Given the description of an element on the screen output the (x, y) to click on. 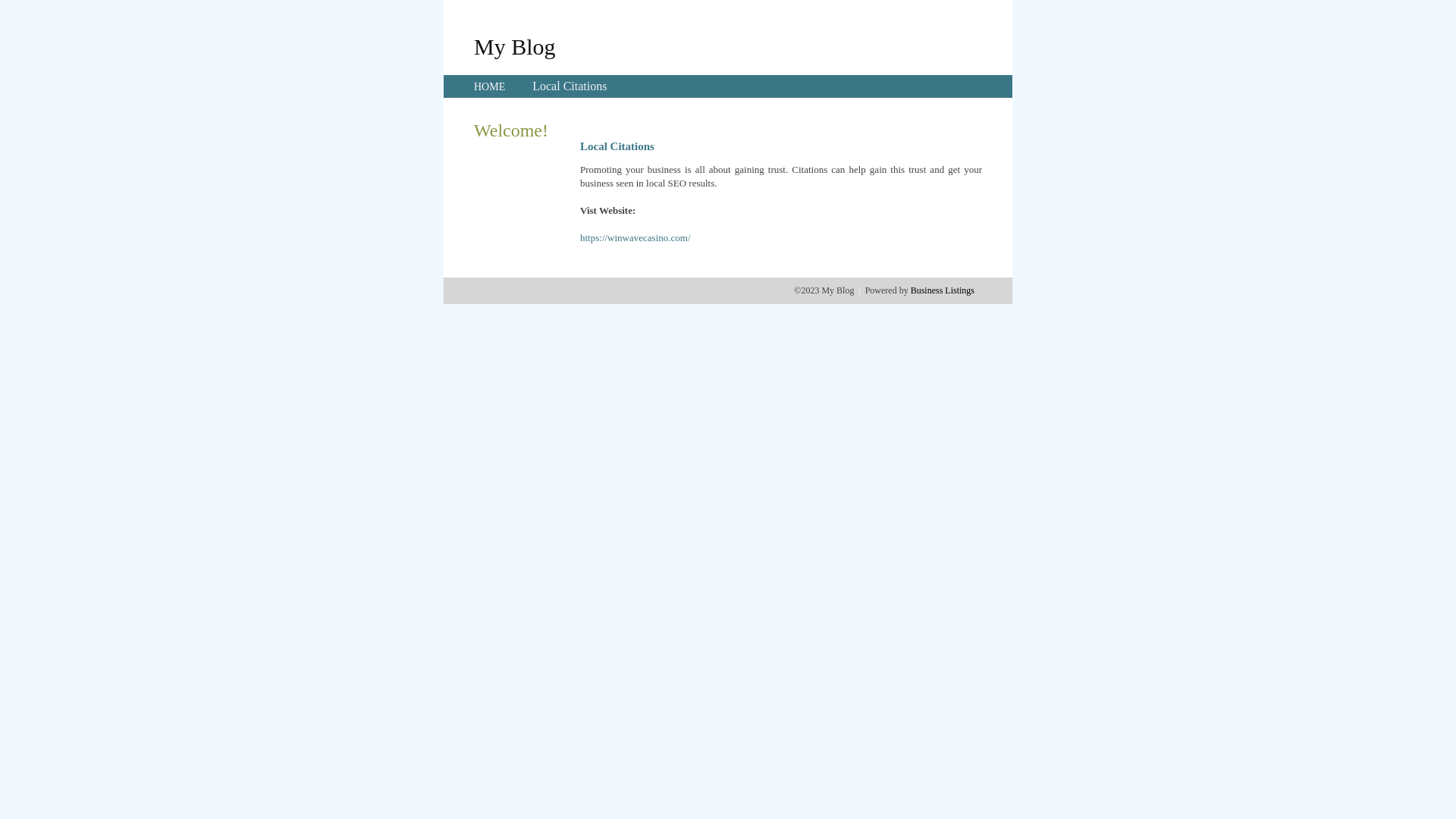
My Blog Element type: text (514, 46)
Local Citations Element type: text (569, 85)
https://winwavecasino.com/ Element type: text (635, 237)
HOME Element type: text (489, 86)
Business Listings Element type: text (942, 290)
